Given the description of an element on the screen output the (x, y) to click on. 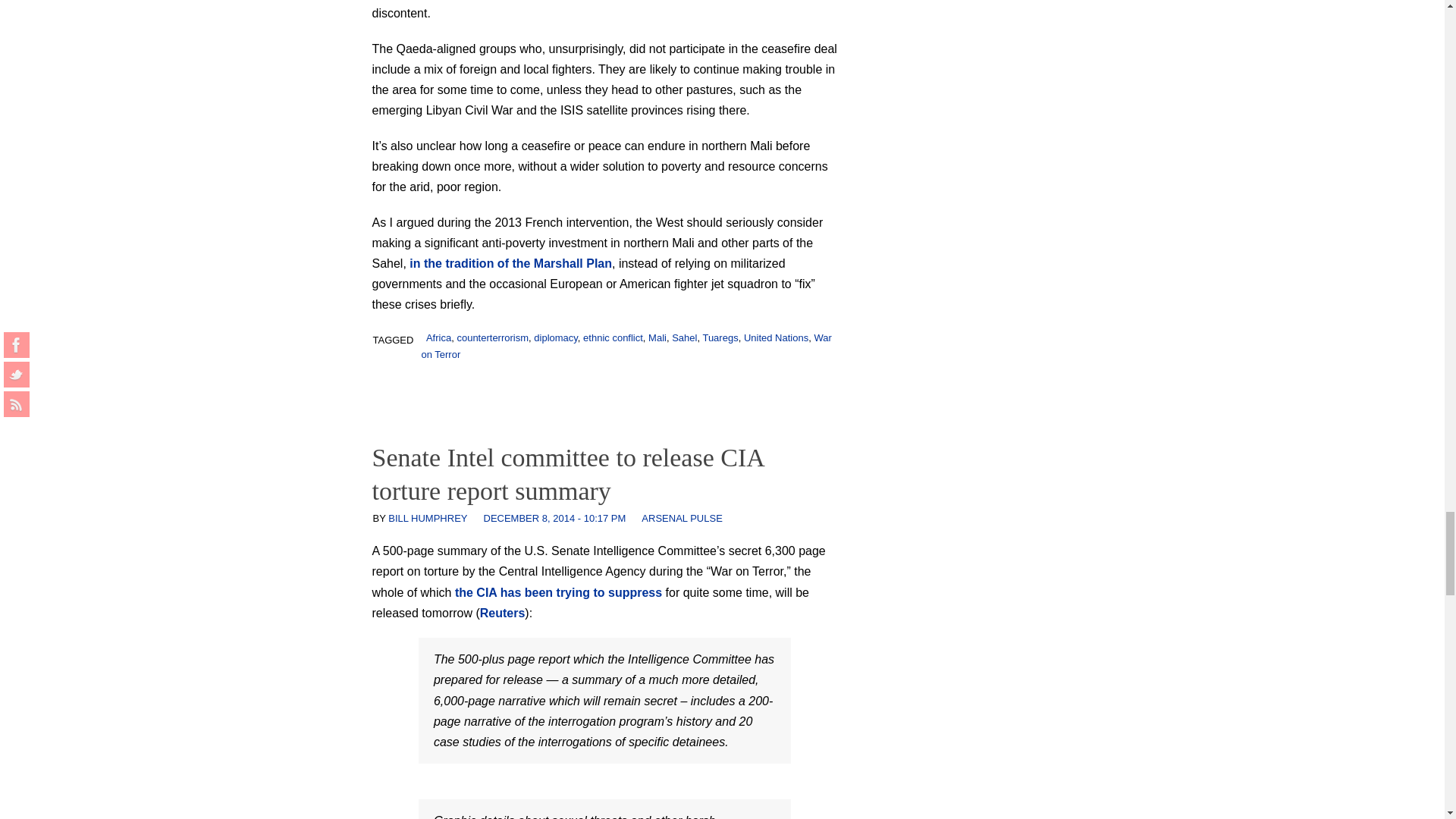
View all posts by Bill Humphrey (427, 518)
